Given the description of an element on the screen output the (x, y) to click on. 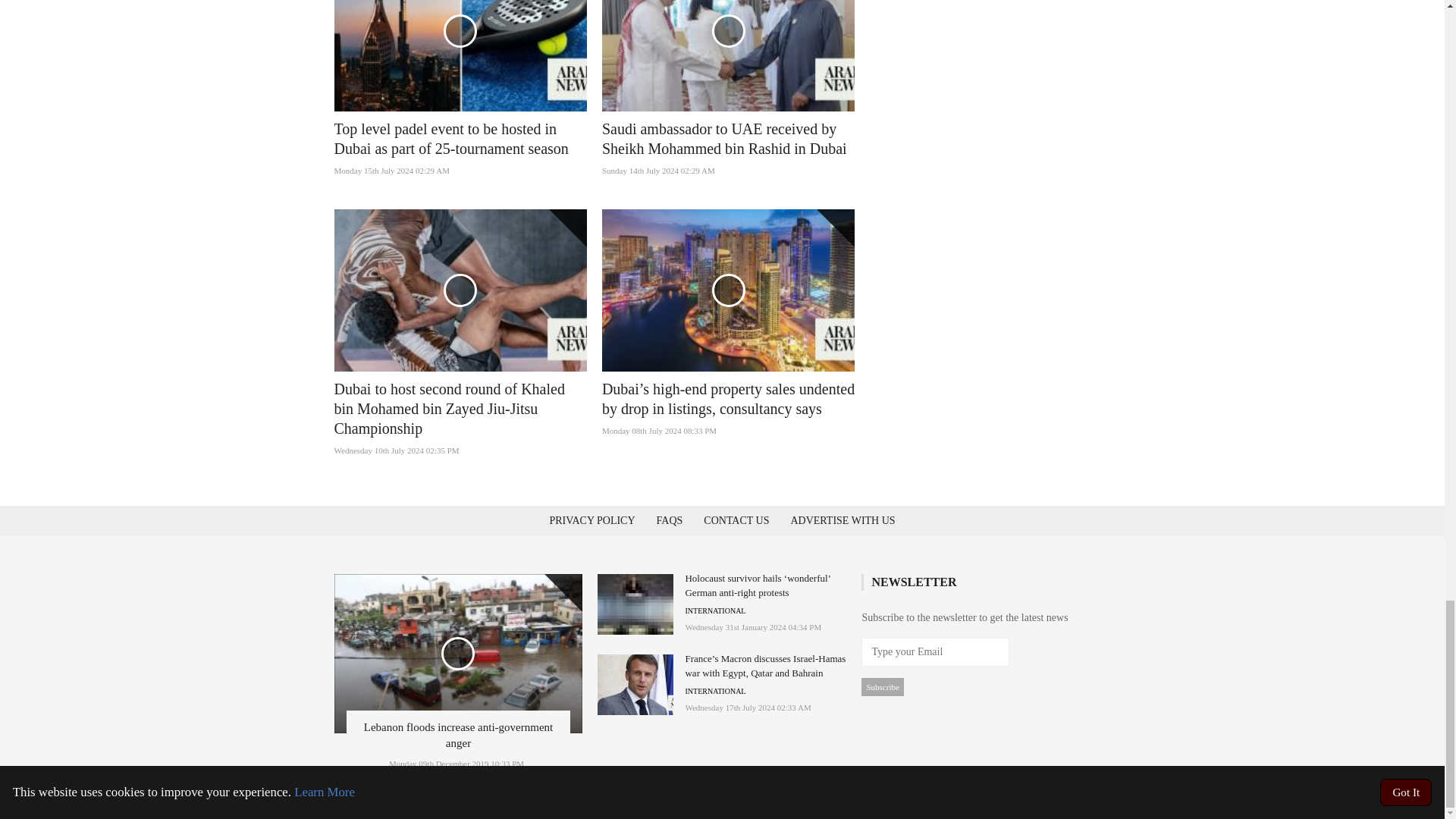
Subscribe (881, 687)
